Given the description of an element on the screen output the (x, y) to click on. 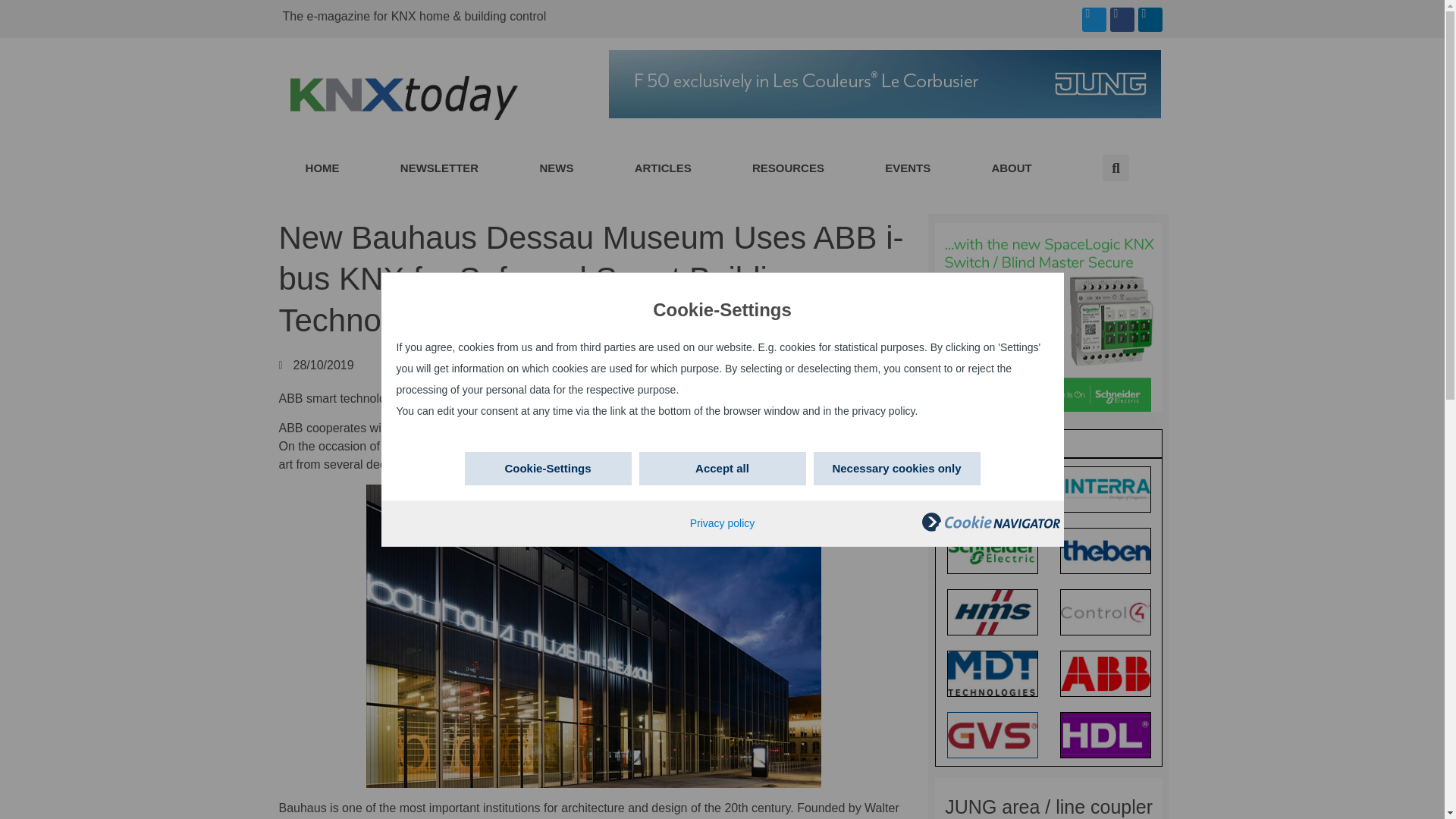
Necessary cookies only (895, 468)
Privacy policy (722, 522)
EVENTS (907, 167)
Cookie-Navigator (990, 527)
Cookie-Navigator (990, 521)
NEWS (556, 167)
ARTICLES (663, 167)
Accept all (722, 468)
ABOUT (1011, 167)
HOME (322, 167)
RESOURCES (788, 167)
NEWSLETTER (439, 167)
Cookie-Settings (547, 468)
